Given the description of an element on the screen output the (x, y) to click on. 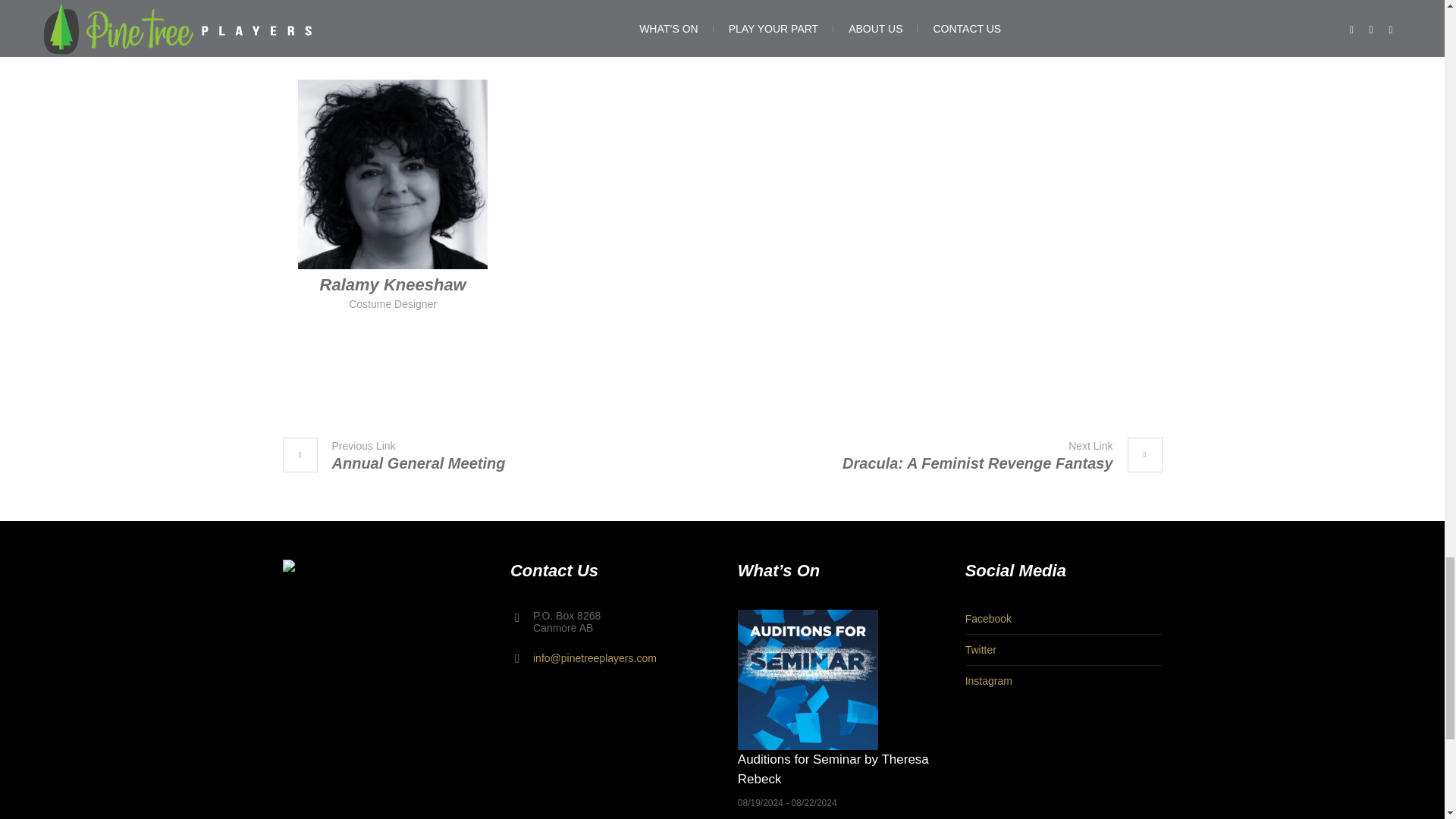
Duval Lang (392, 9)
Martin Bellemare (832, 9)
Ralamy Kneeshaw (400, 456)
Jack Paterson (994, 456)
Michael Luong (392, 284)
